Given the description of an element on the screen output the (x, y) to click on. 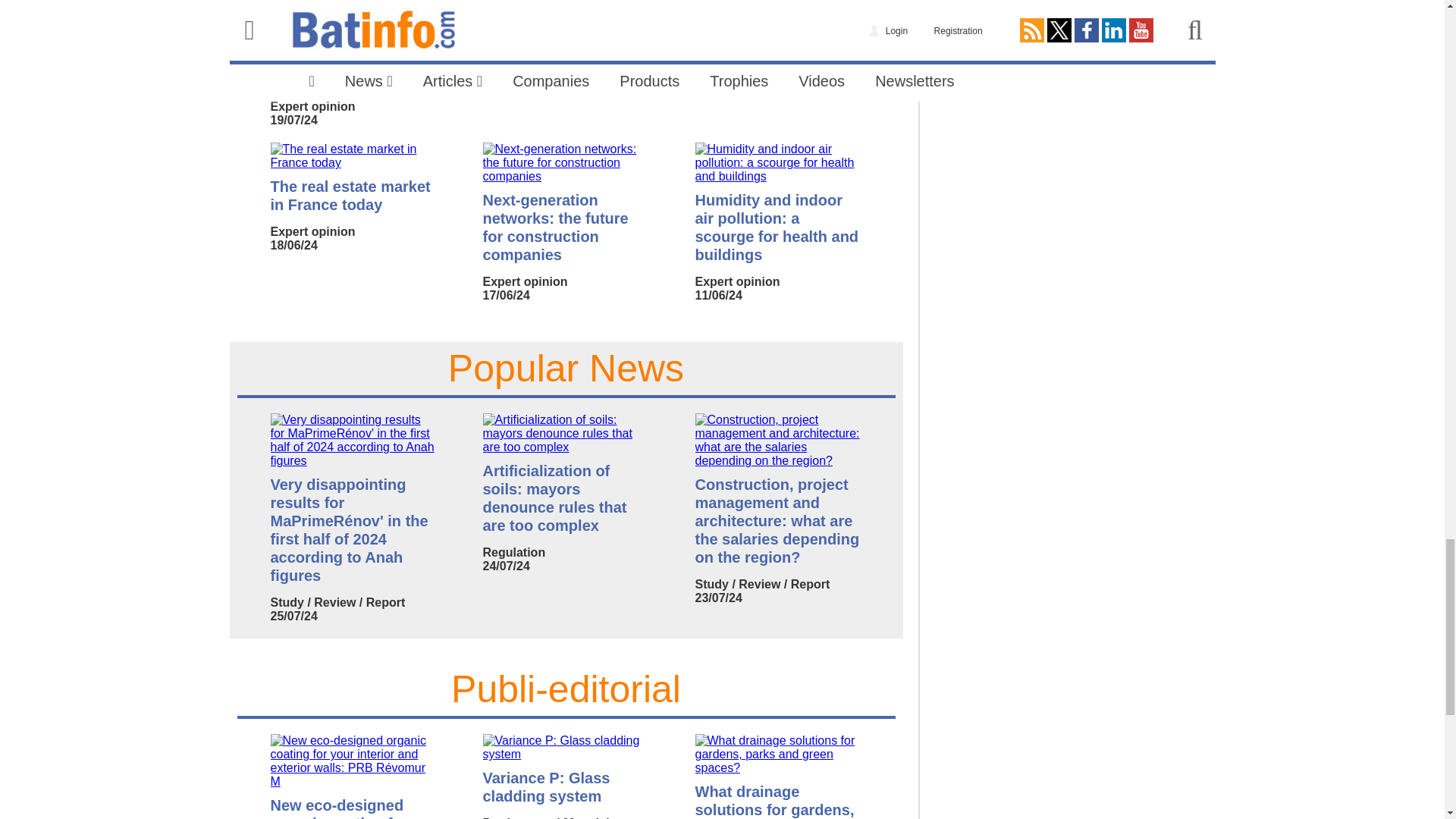
A reform of the DPE which restores confidence to owners (352, 61)
A reform of the DPE which restores confidence to owners (352, 13)
